Given the description of an element on the screen output the (x, y) to click on. 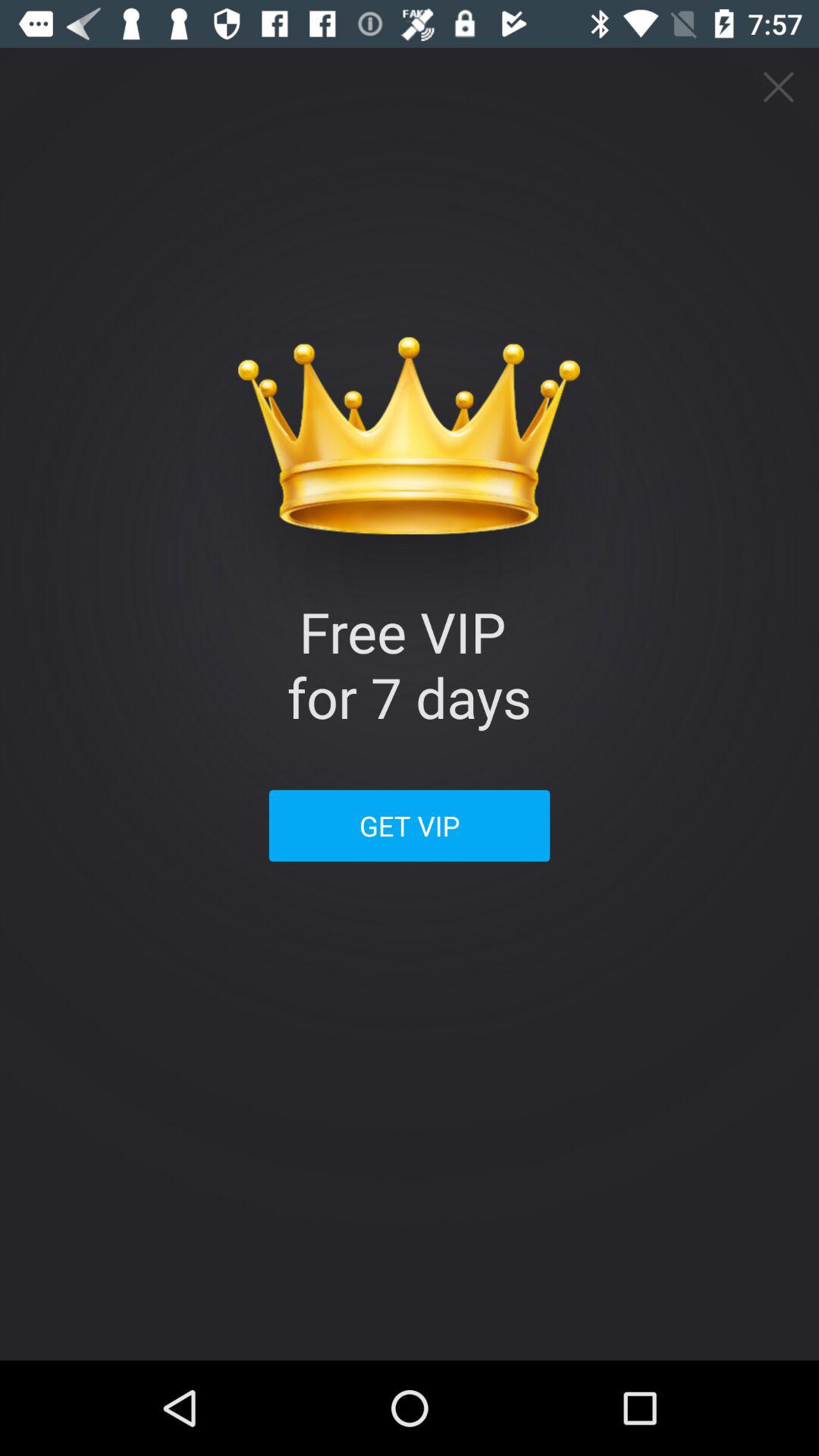
click icon at the top right corner (779, 87)
